Given the description of an element on the screen output the (x, y) to click on. 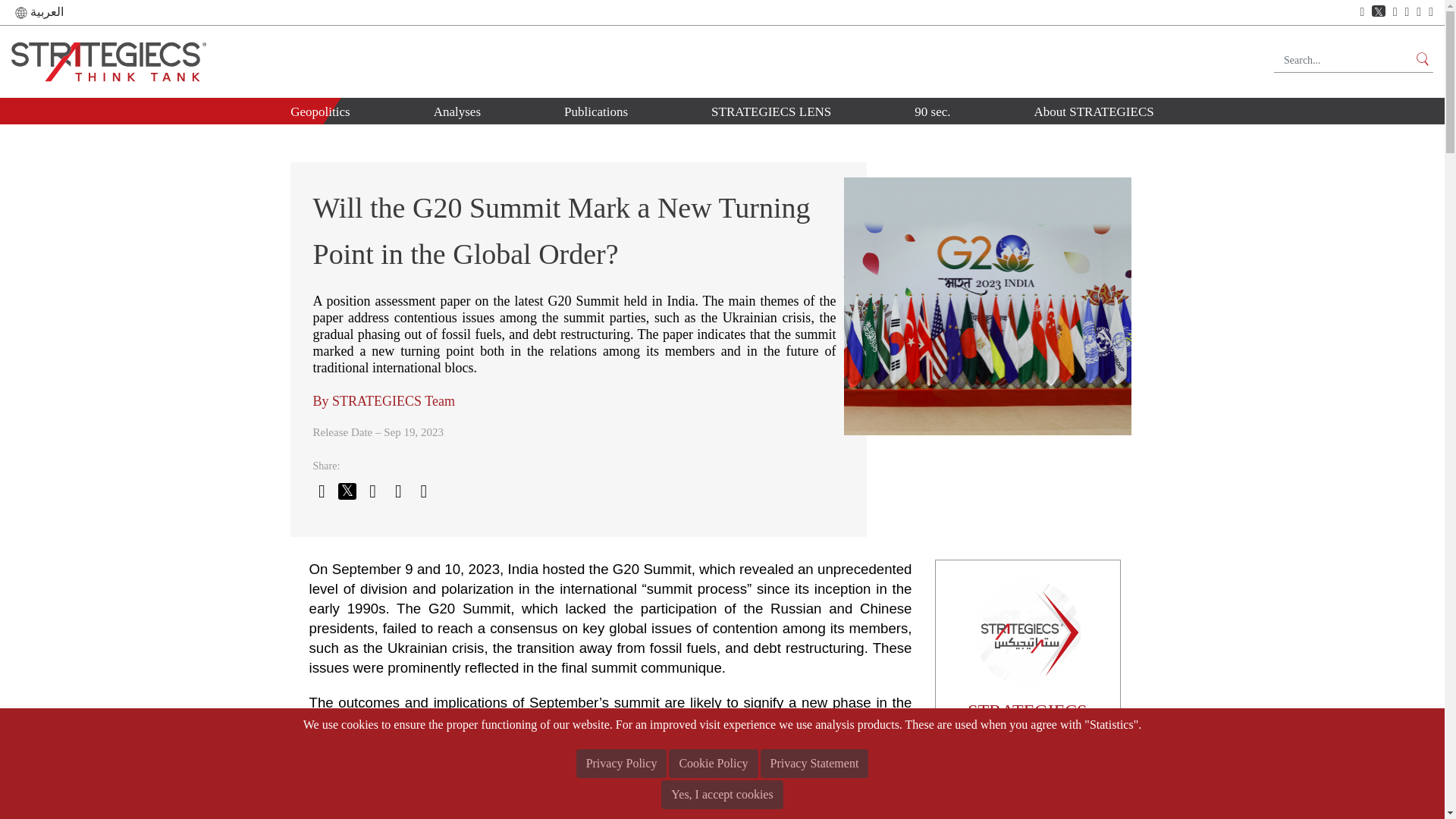
STRATEGIECS LENS (770, 110)
Analyses (456, 110)
Geopolitics (319, 110)
Publications (595, 110)
